Given the description of an element on the screen output the (x, y) to click on. 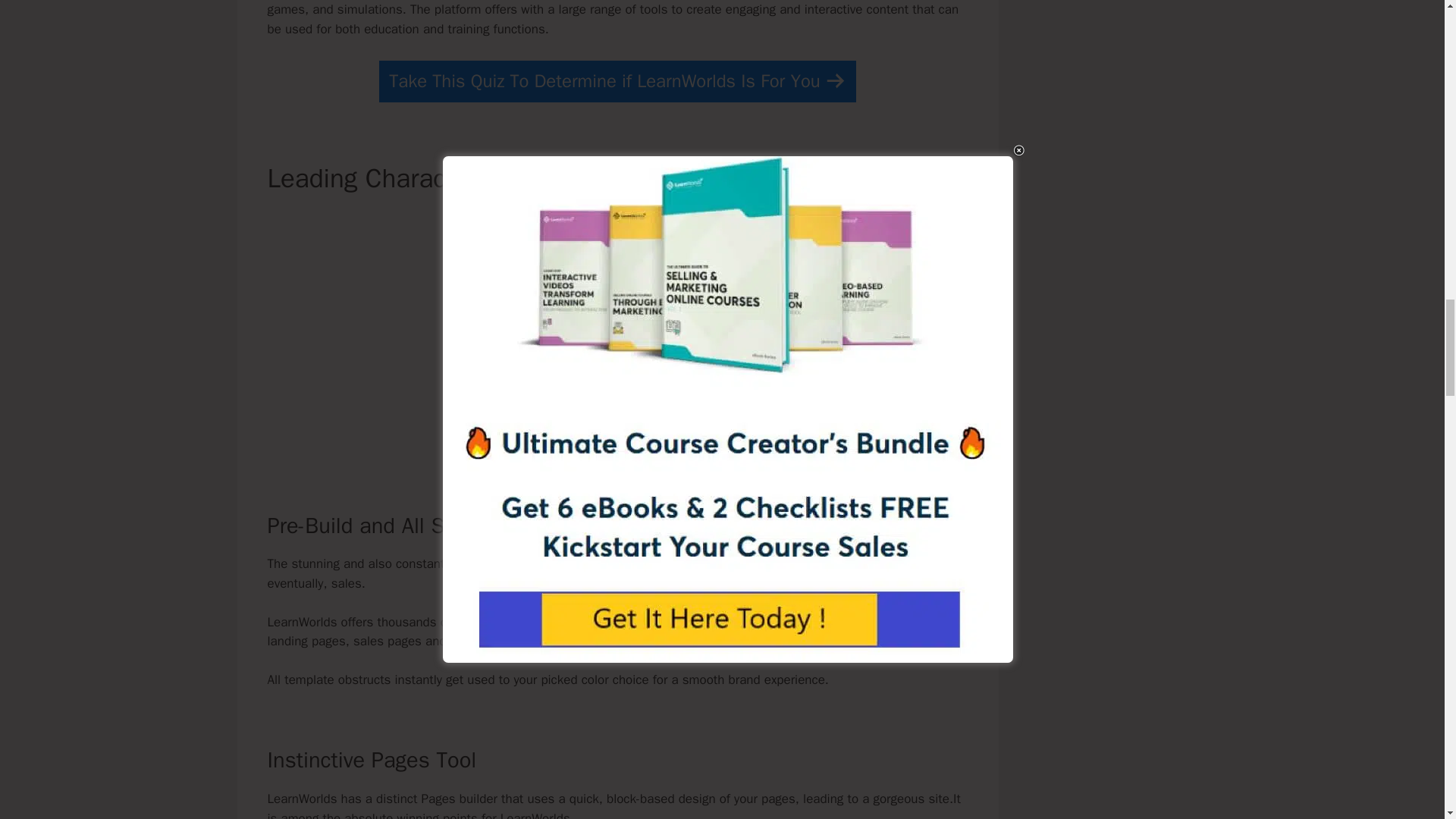
Take This Quiz To Determine if LearnWorlds Is For You (617, 81)
